Given the description of an element on the screen output the (x, y) to click on. 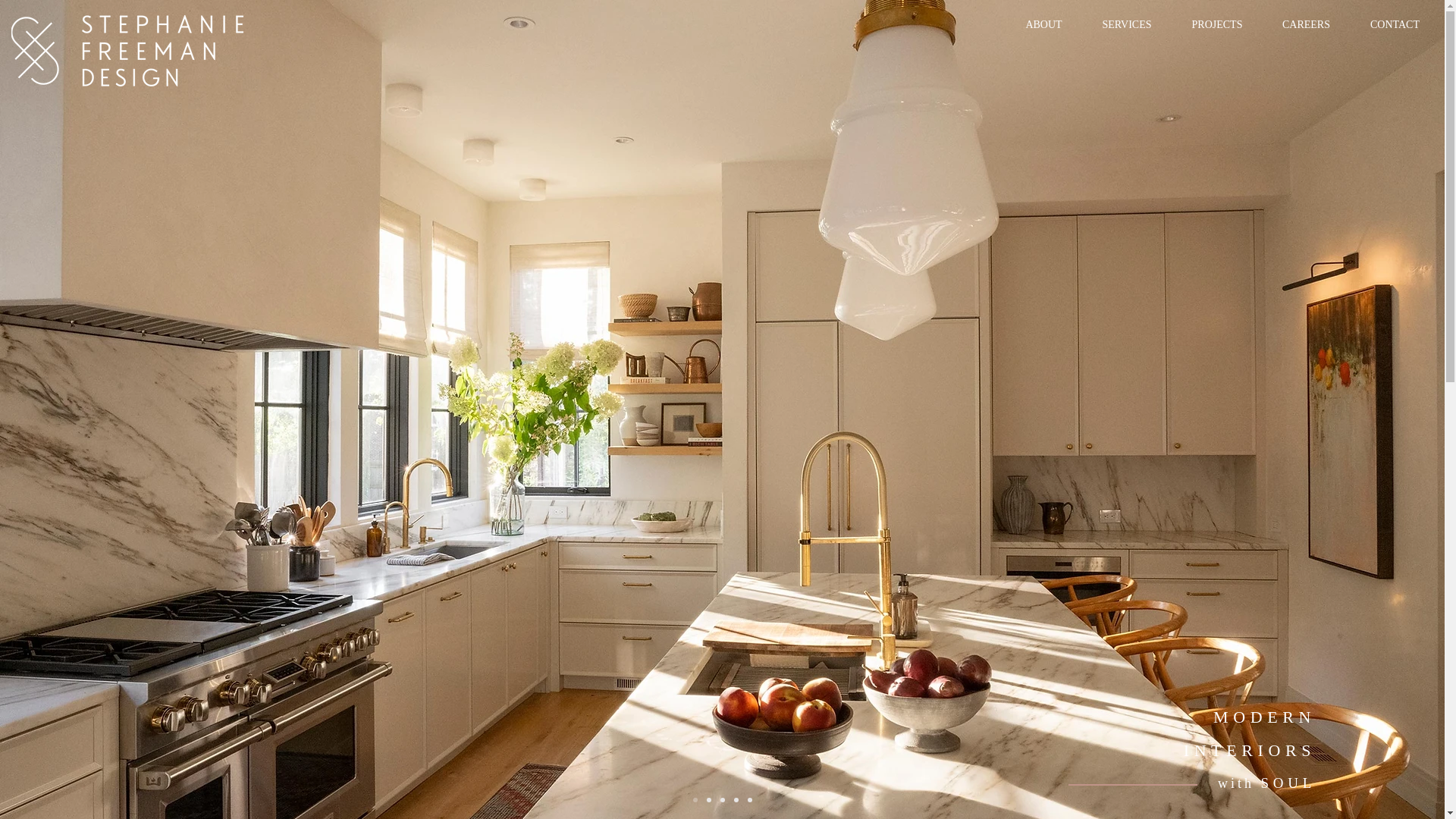
ABOUT (1043, 25)
CONTACT (1394, 25)
PROJECTS (1217, 25)
CAREERS (1305, 25)
